Given the description of an element on the screen output the (x, y) to click on. 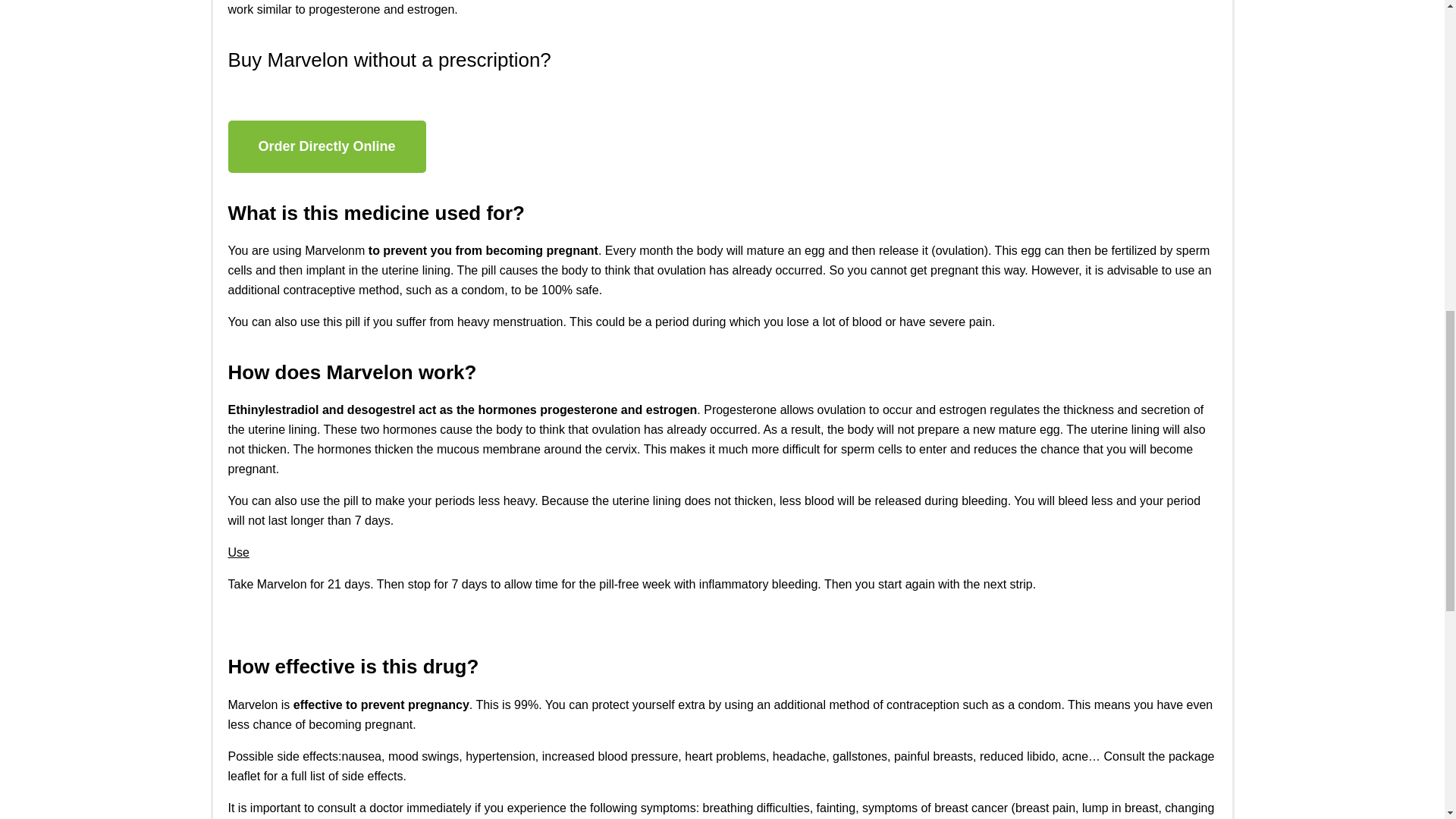
Order Directly Online (326, 146)
